Given the description of an element on the screen output the (x, y) to click on. 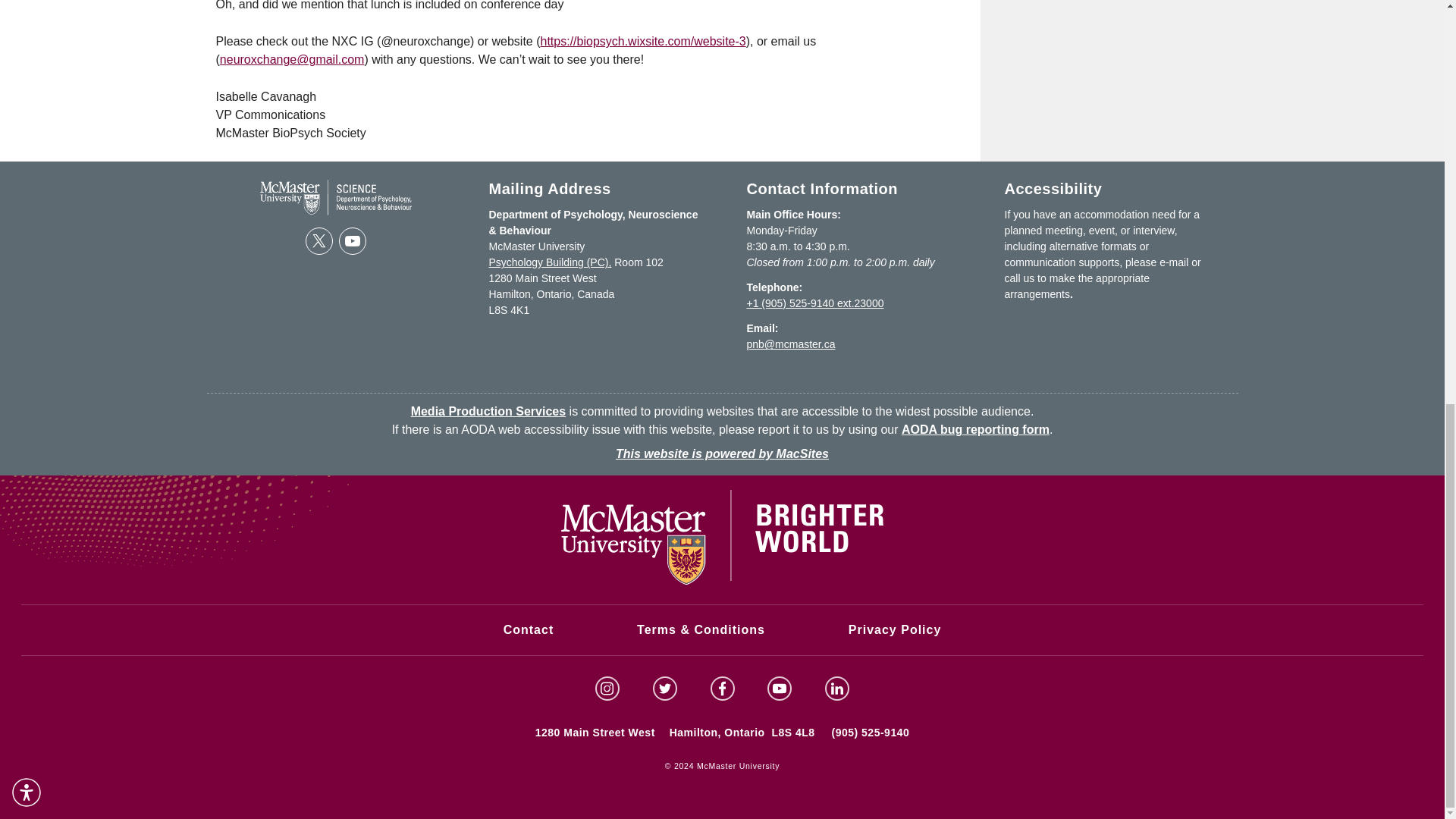
Accessibility Menu (26, 5)
Telephone number (814, 303)
